Given the description of an element on the screen output the (x, y) to click on. 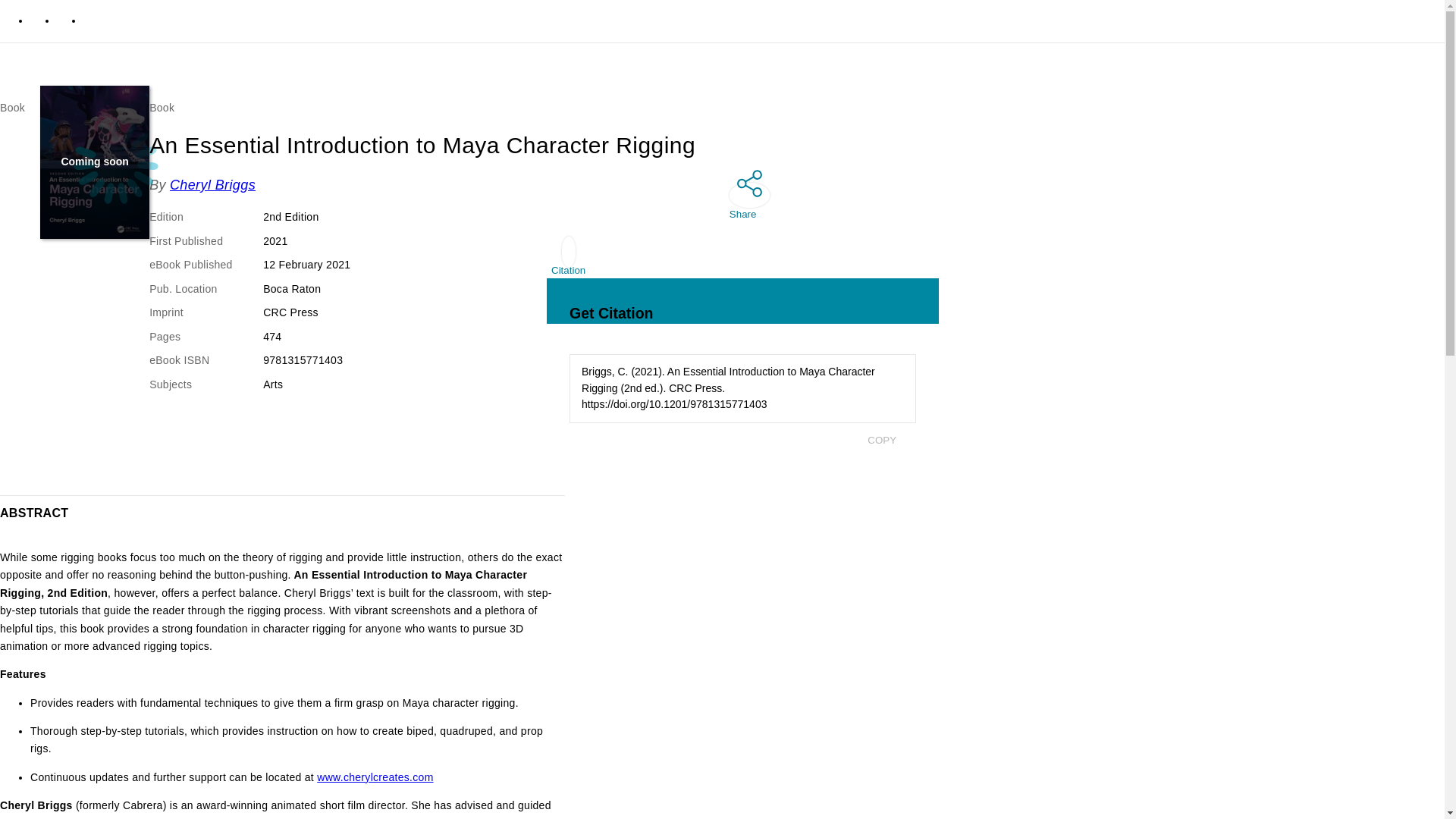
www.cherylcreates.com (374, 776)
Citation (568, 259)
Cheryl Briggs (213, 184)
COPY (881, 439)
